Given the description of an element on the screen output the (x, y) to click on. 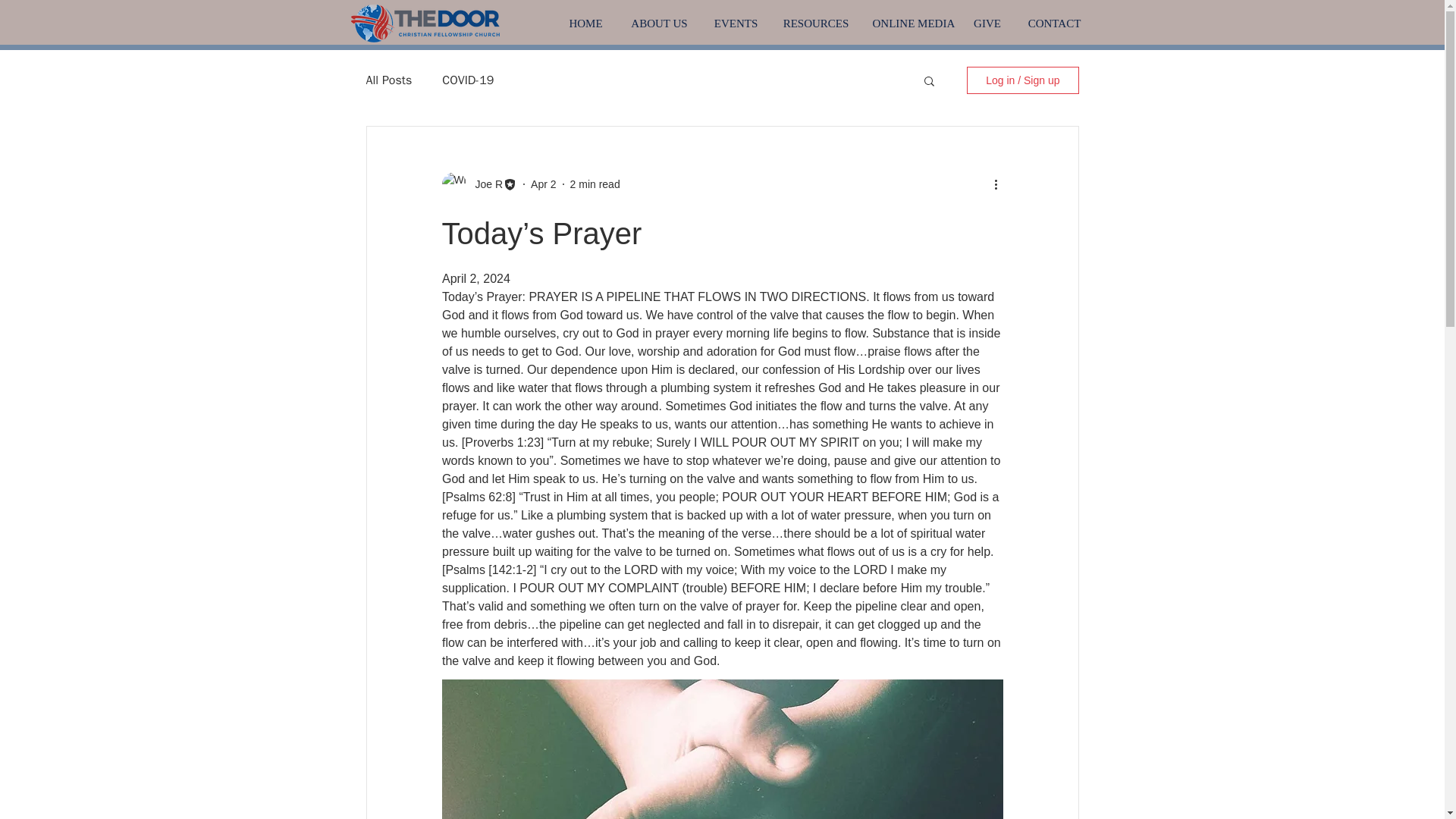
Joe R (483, 183)
COVID-19 (467, 80)
CONTACT (1054, 23)
Apr 2 (543, 183)
2 min read (595, 183)
RESOURCES (815, 23)
ONLINE MEDIA (910, 23)
GIVE (986, 23)
HOME (585, 23)
All Posts (388, 80)
